Given the description of an element on the screen output the (x, y) to click on. 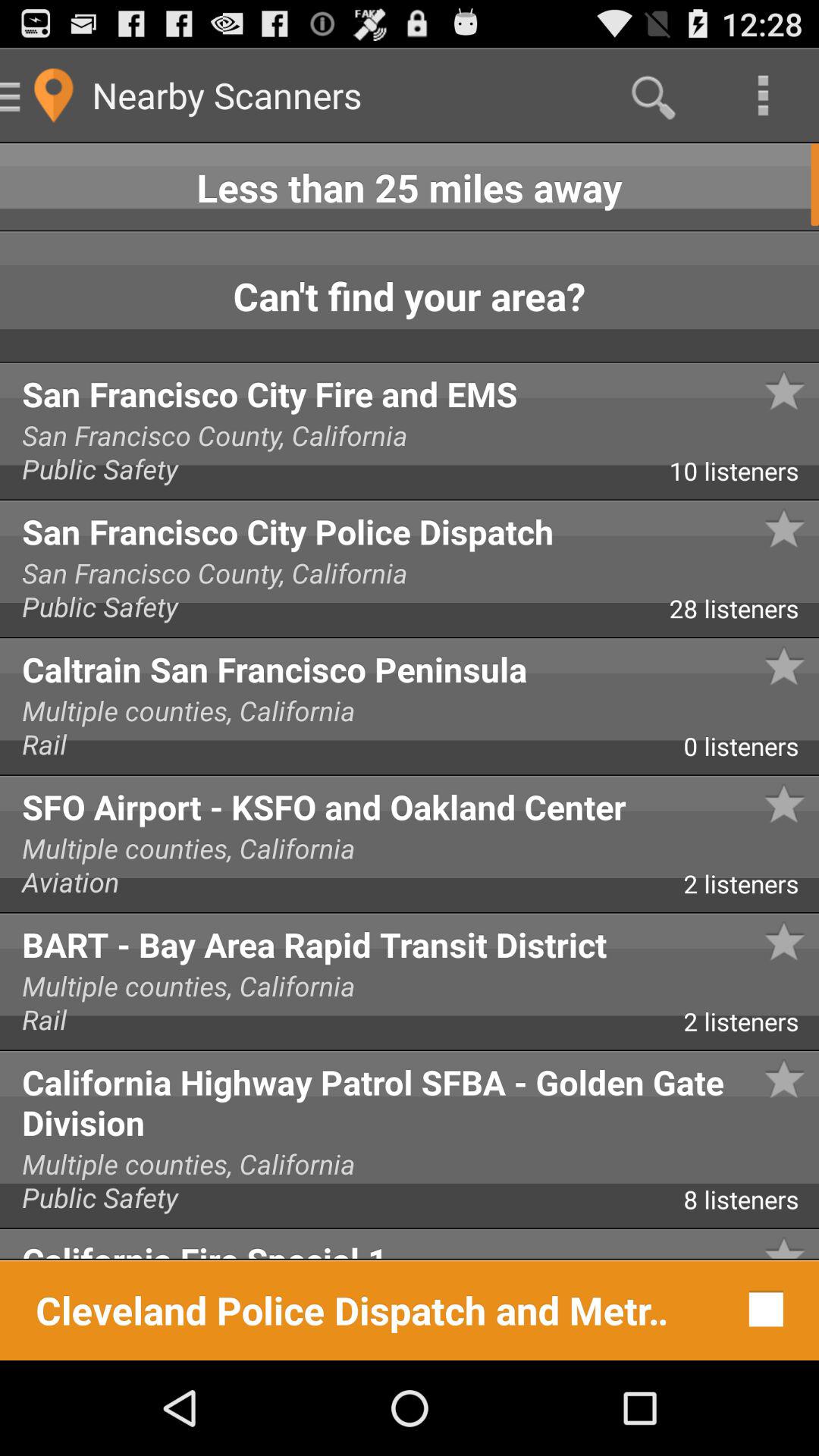
open 28 listeners (744, 614)
